Given the description of an element on the screen output the (x, y) to click on. 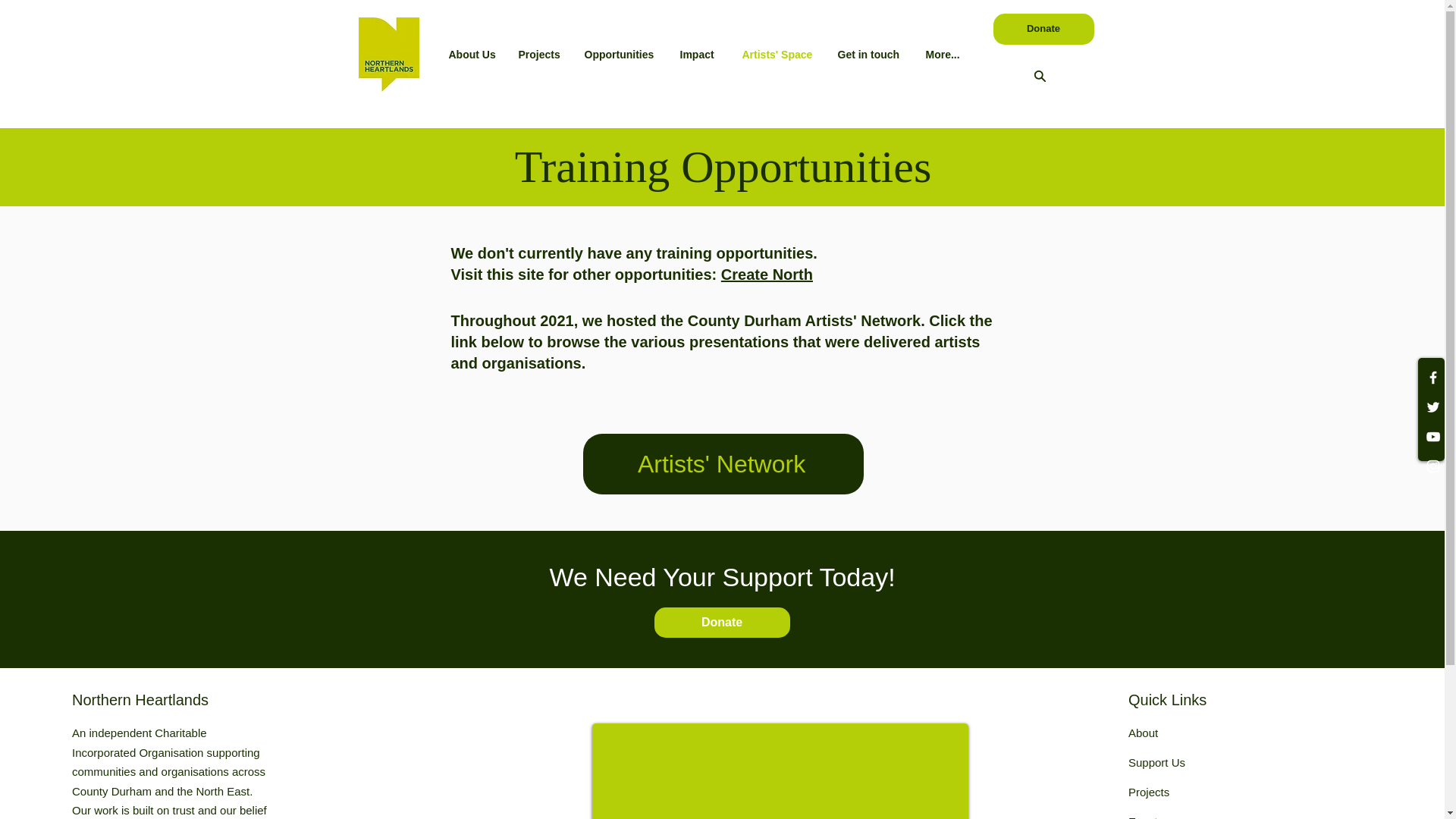
Create North (766, 274)
Donate (1043, 29)
Artists' Network (722, 464)
More... (942, 54)
Events (1145, 816)
Projects (1148, 791)
Donate (721, 622)
Impact (699, 54)
Projects (539, 54)
Get in touch (870, 54)
Opportunities (620, 54)
Artists' Space (778, 54)
Support Us (1156, 762)
About (1142, 732)
